Given the description of an element on the screen output the (x, y) to click on. 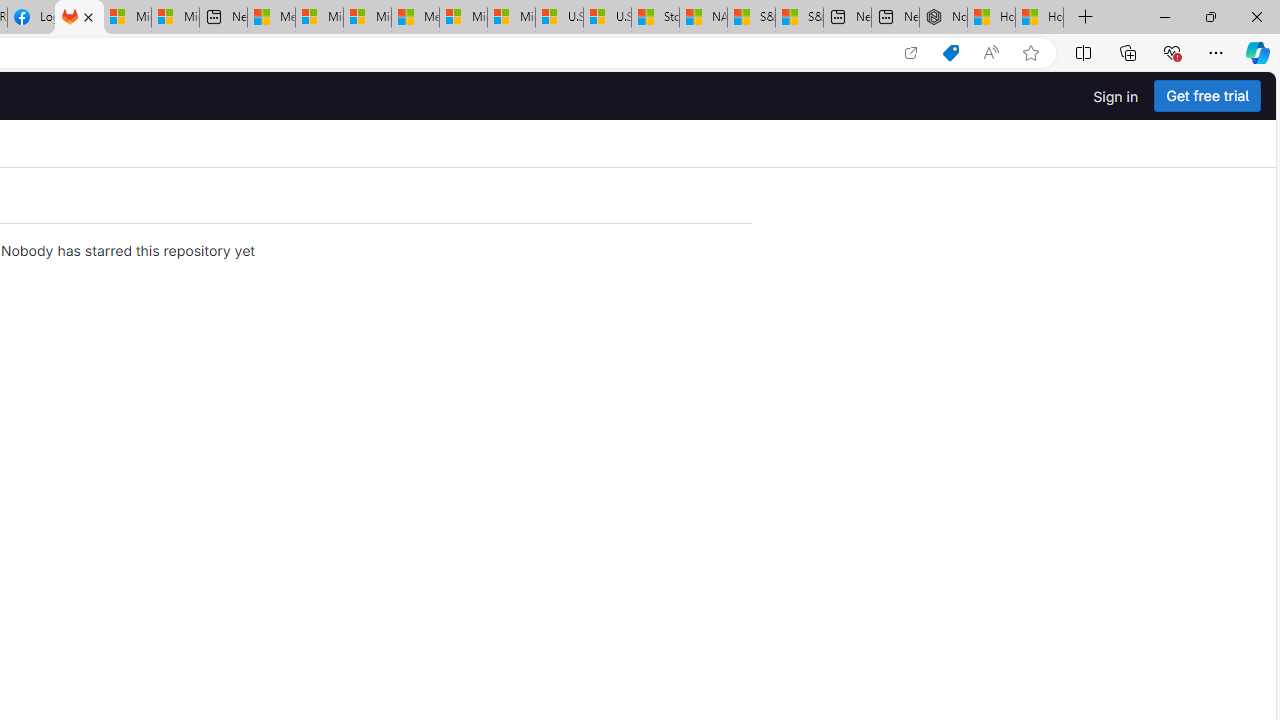
Shopping in Microsoft Edge (950, 53)
New Tab (1085, 17)
Minimize (1164, 16)
Microsoft account | Privacy (319, 17)
Split screen (1083, 52)
Sign in (1115, 95)
Sign in (1115, 95)
Collections (1128, 52)
Restore (1210, 16)
Microsoft account | Home (367, 17)
Close (1256, 16)
Open in app (910, 53)
